Given the description of an element on the screen output the (x, y) to click on. 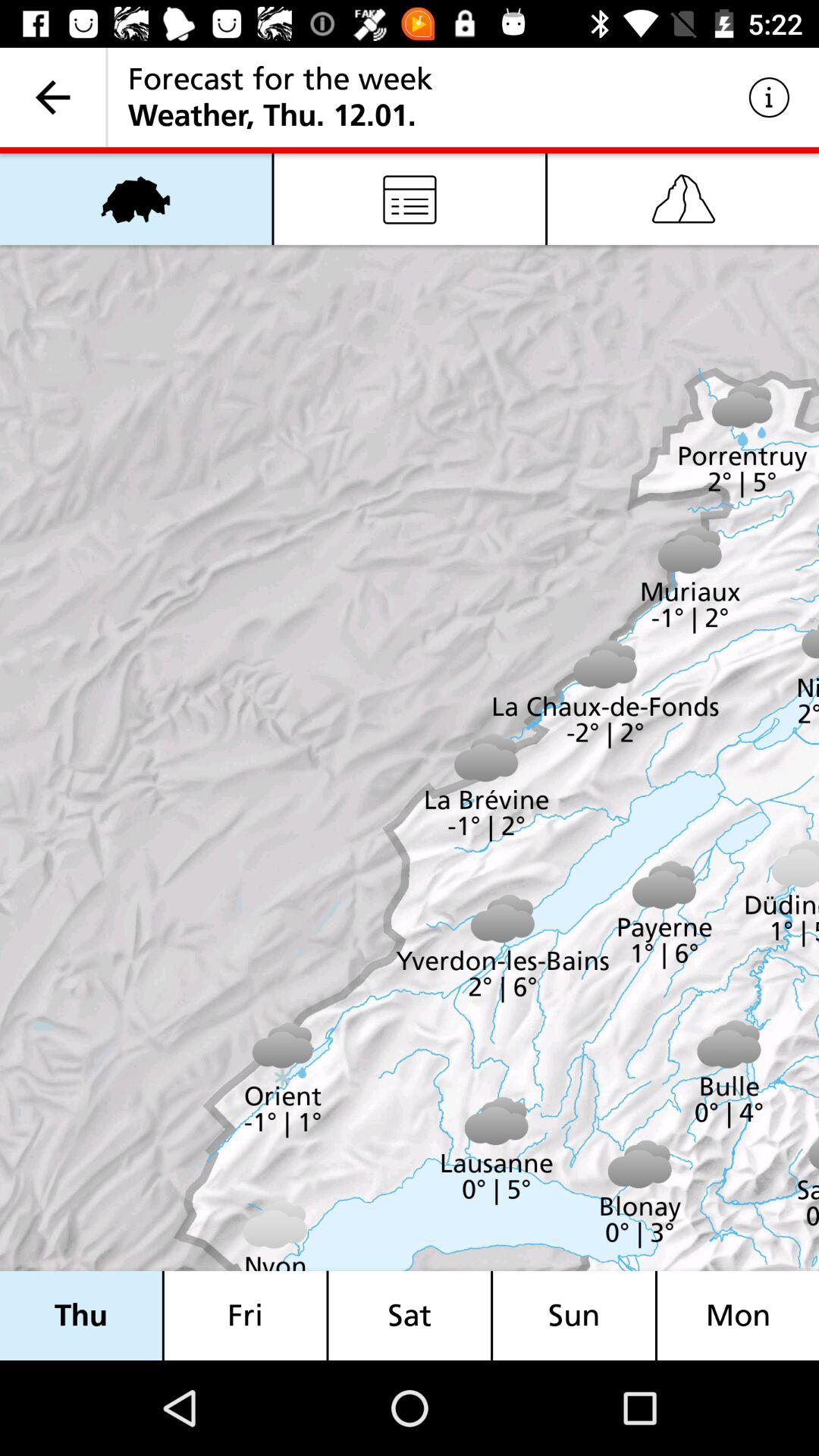
jump until the fri item (245, 1315)
